Given the description of an element on the screen output the (x, y) to click on. 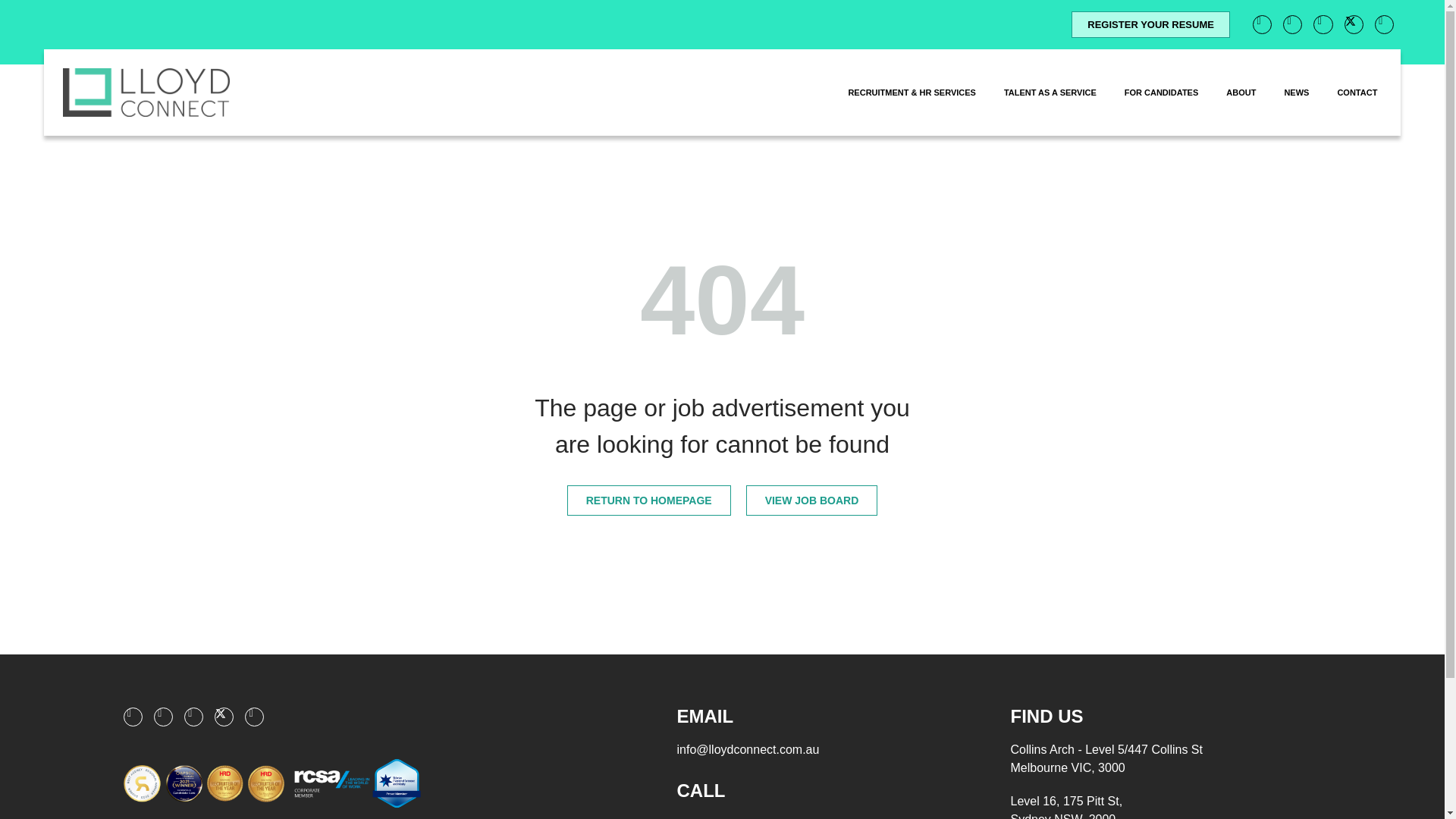
TALENT AS A SERVICE (1049, 92)
CONTACT (1356, 92)
NEWS (1296, 92)
FOR CANDIDATES (1161, 92)
ABOUT (1240, 92)
REGISTER YOUR RESUME (1150, 24)
